Given the description of an element on the screen output the (x, y) to click on. 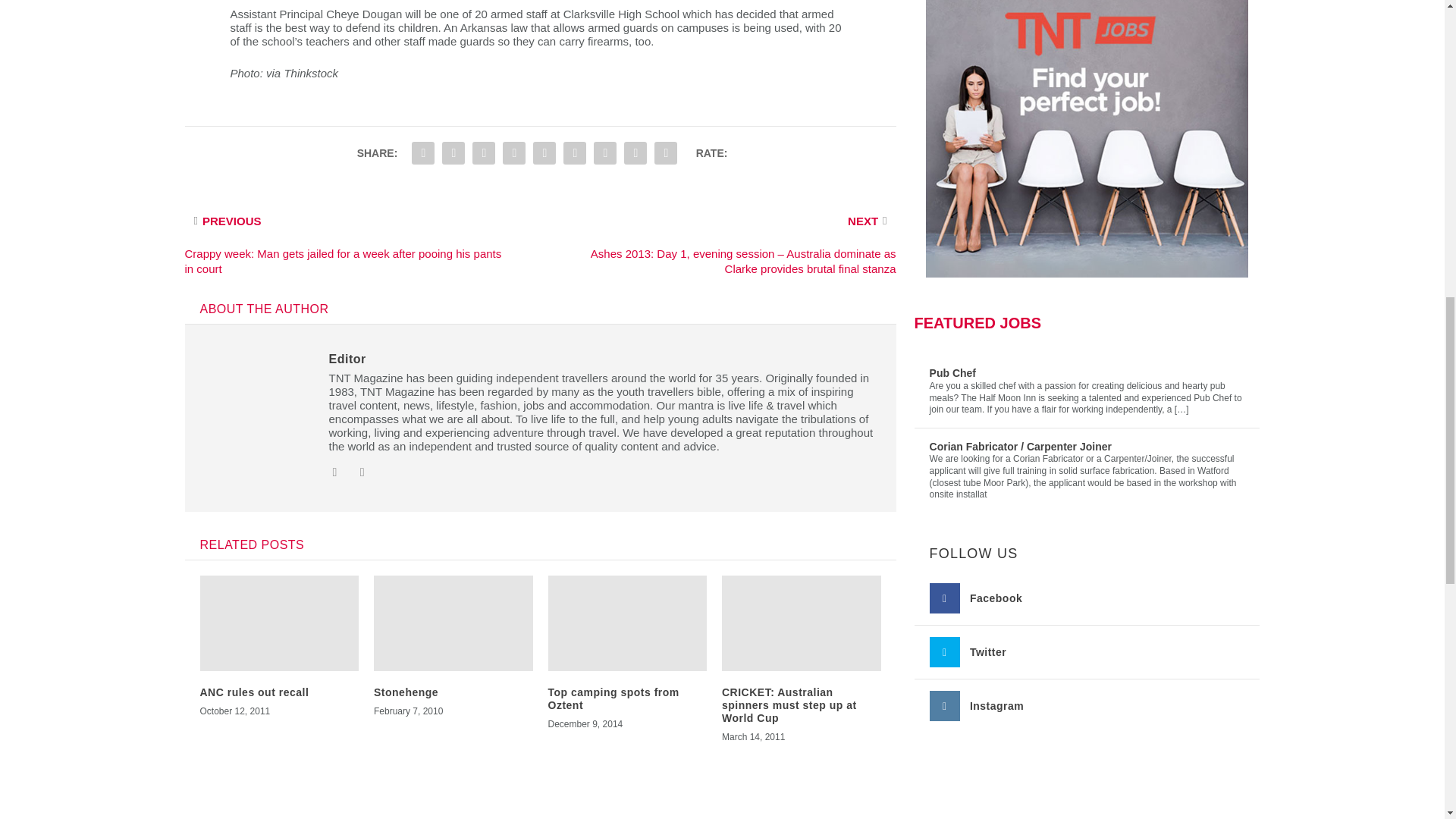
Stonehenge (406, 692)
Editor (347, 358)
ANC rules out recall (254, 692)
Top camping spots from Oztent (612, 698)
CRICKET: Australian spinners must step up at World Cup (789, 704)
